Given the description of an element on the screen output the (x, y) to click on. 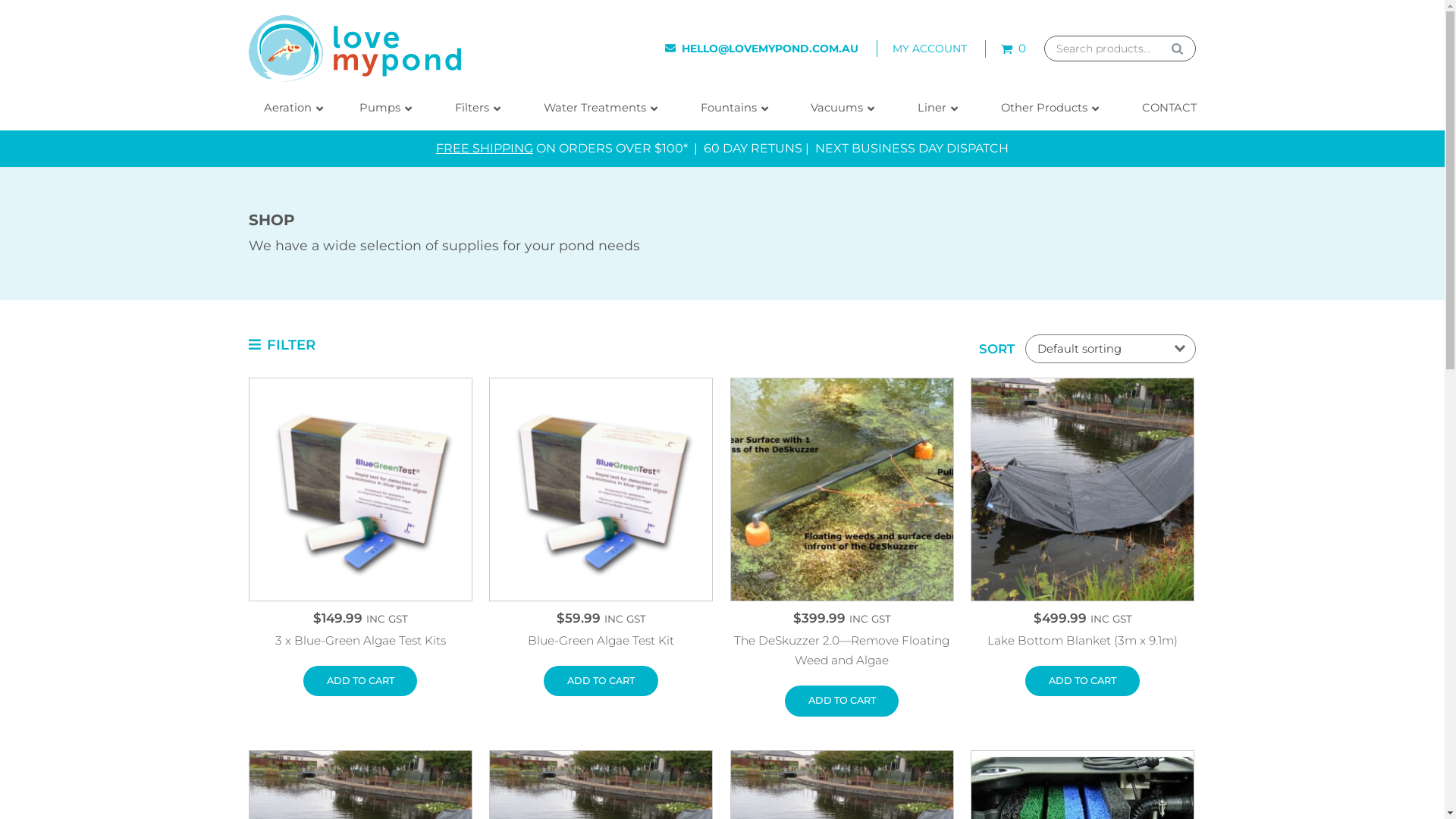
MY ACCOUNT Element type: text (929, 48)
0 Element type: text (1013, 48)
$149.99 INC GST
3 x Blue-Green Algae Test Kits Element type: text (360, 532)
$59.99 INC GST
Blue-Green Algae Test Kit Element type: text (600, 532)
$499.99 INC GST
Lake Bottom Blanket (3m x 9.1m) Element type: text (1082, 532)
Filters Element type: text (473, 107)
Fountains Element type: text (730, 107)
CONTACT Element type: text (1161, 107)
Aeration Element type: text (289, 107)
  HELLO@LOVEMYPOND.COM.AU Element type: text (761, 48)
FREE SHIPPING Element type: text (484, 148)
Liner Element type: text (933, 107)
ADD TO CART Element type: text (360, 680)
ADD TO CART Element type: text (1082, 680)
Vacuums Element type: text (838, 107)
Water Treatments Element type: text (596, 107)
Pumps Element type: text (384, 107)
ADD TO CART Element type: text (841, 700)
FILTER Element type: text (281, 343)
ADD TO CART Element type: text (600, 680)
Search Element type: text (1176, 48)
Other Products Element type: text (1045, 107)
